Given the description of an element on the screen output the (x, y) to click on. 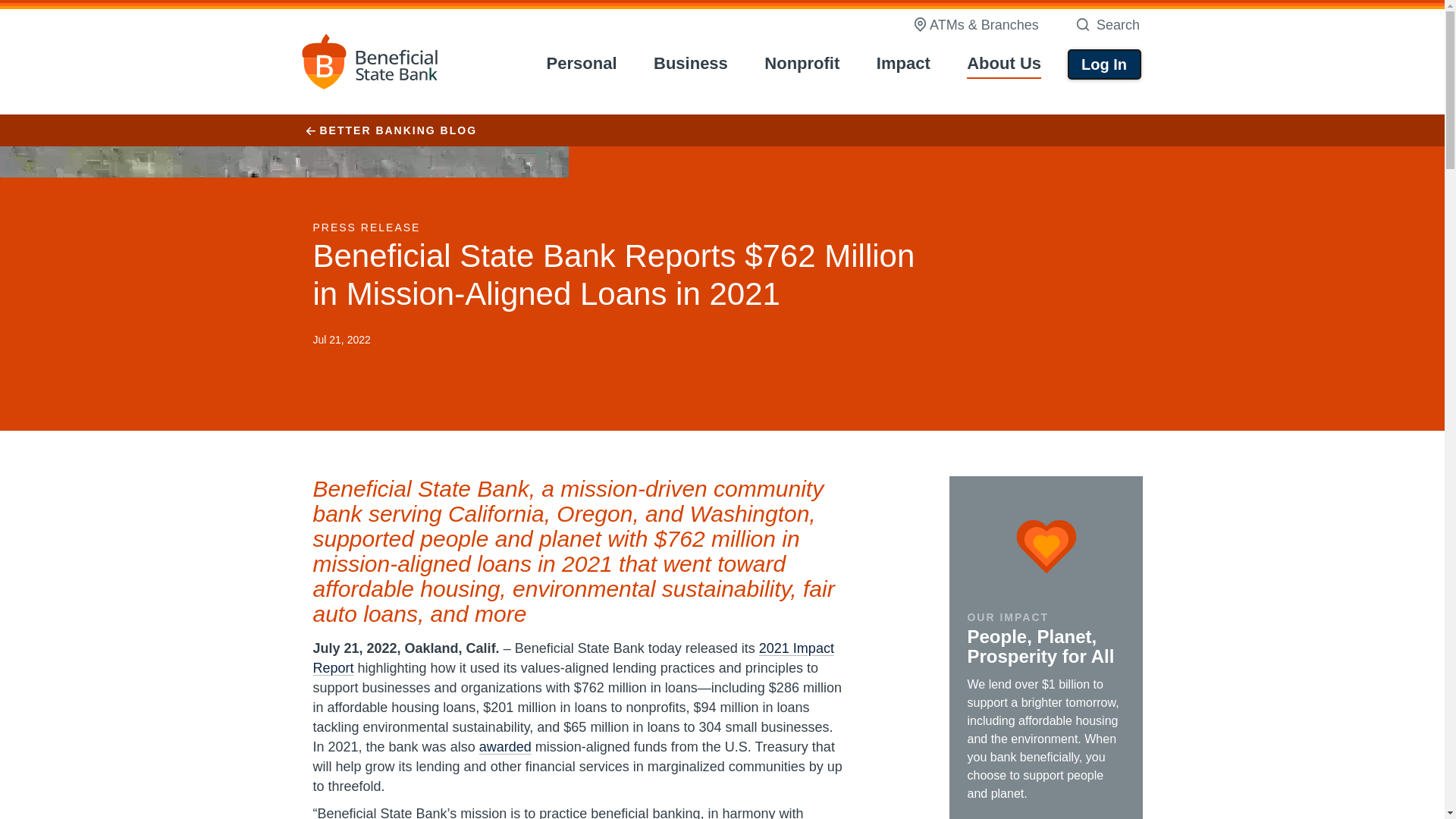
Skip to login (588, 63)
